Given the description of an element on the screen output the (x, y) to click on. 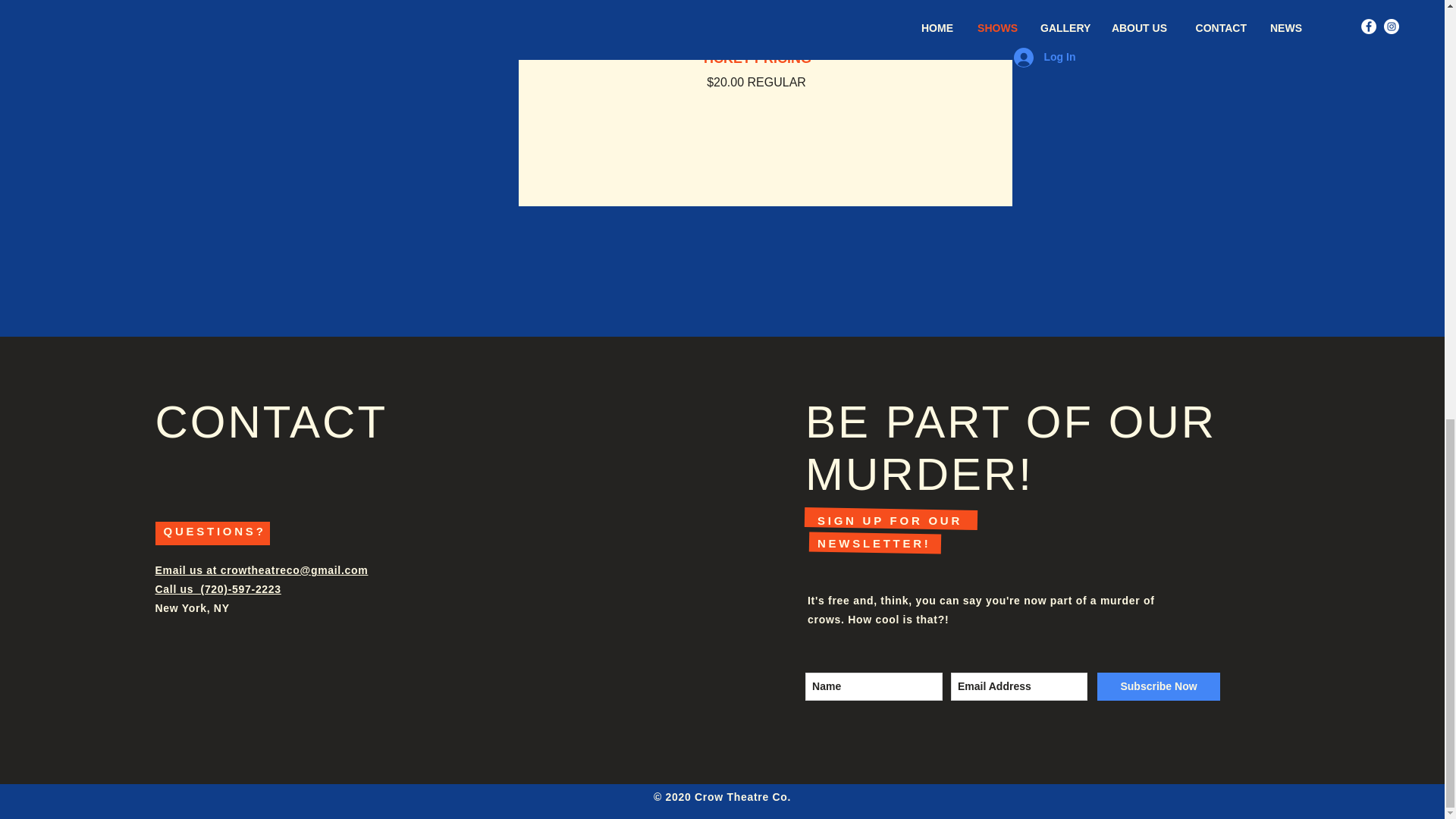
Buy Tickets! (755, 3)
Subscribe Now (1158, 686)
